Given the description of an element on the screen output the (x, y) to click on. 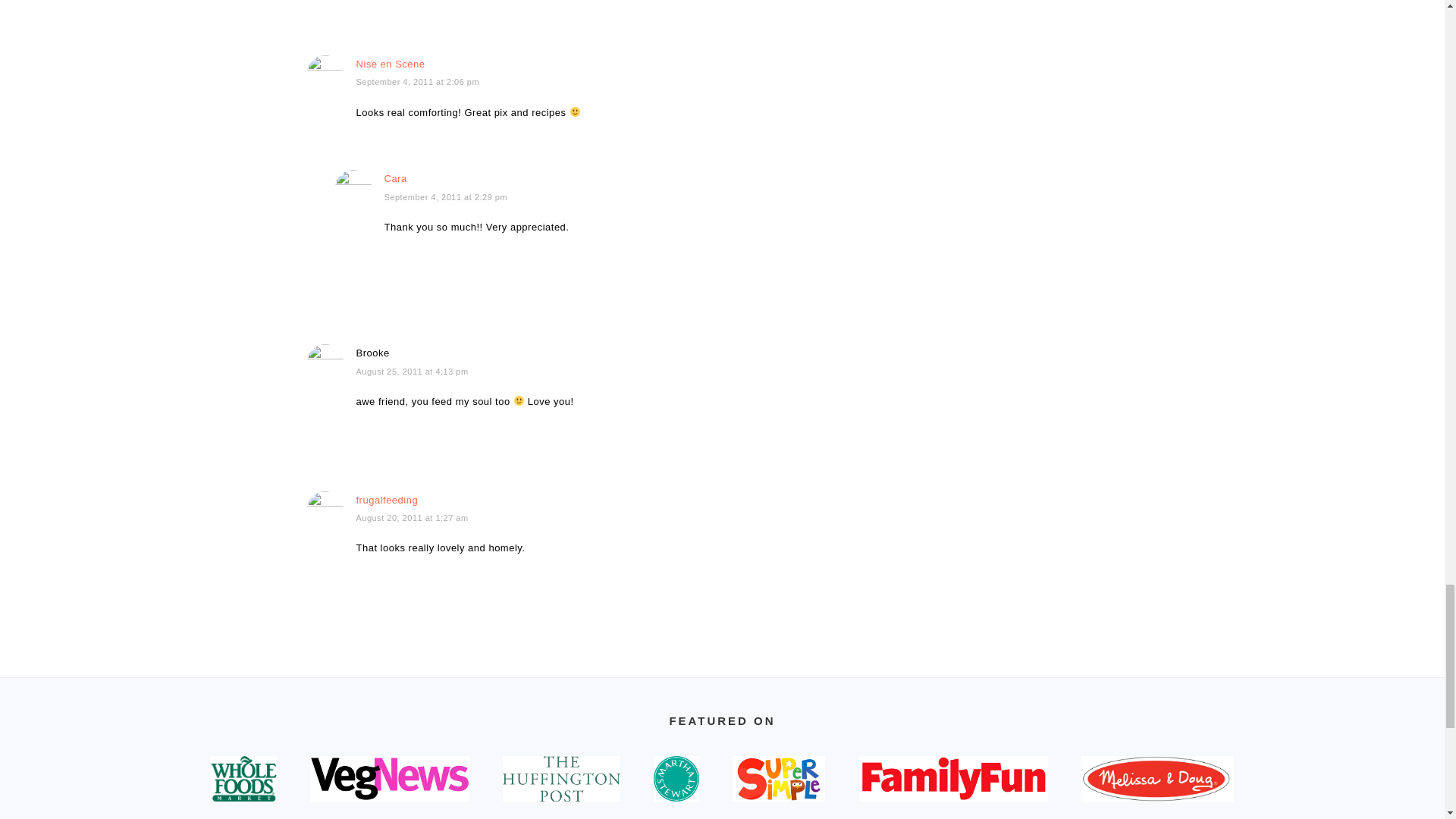
Fork and Beans featured on VegNews (389, 778)
Fork and Beans featured on WholeFoods (243, 778)
Fork and Beans featured in FamilyFun Magazine (953, 778)
Fork and Beans featured on (560, 778)
Fork and Beans featured on Martha Stewart (676, 778)
Fork and Beans featured on Super Simple (778, 778)
